Given the description of an element on the screen output the (x, y) to click on. 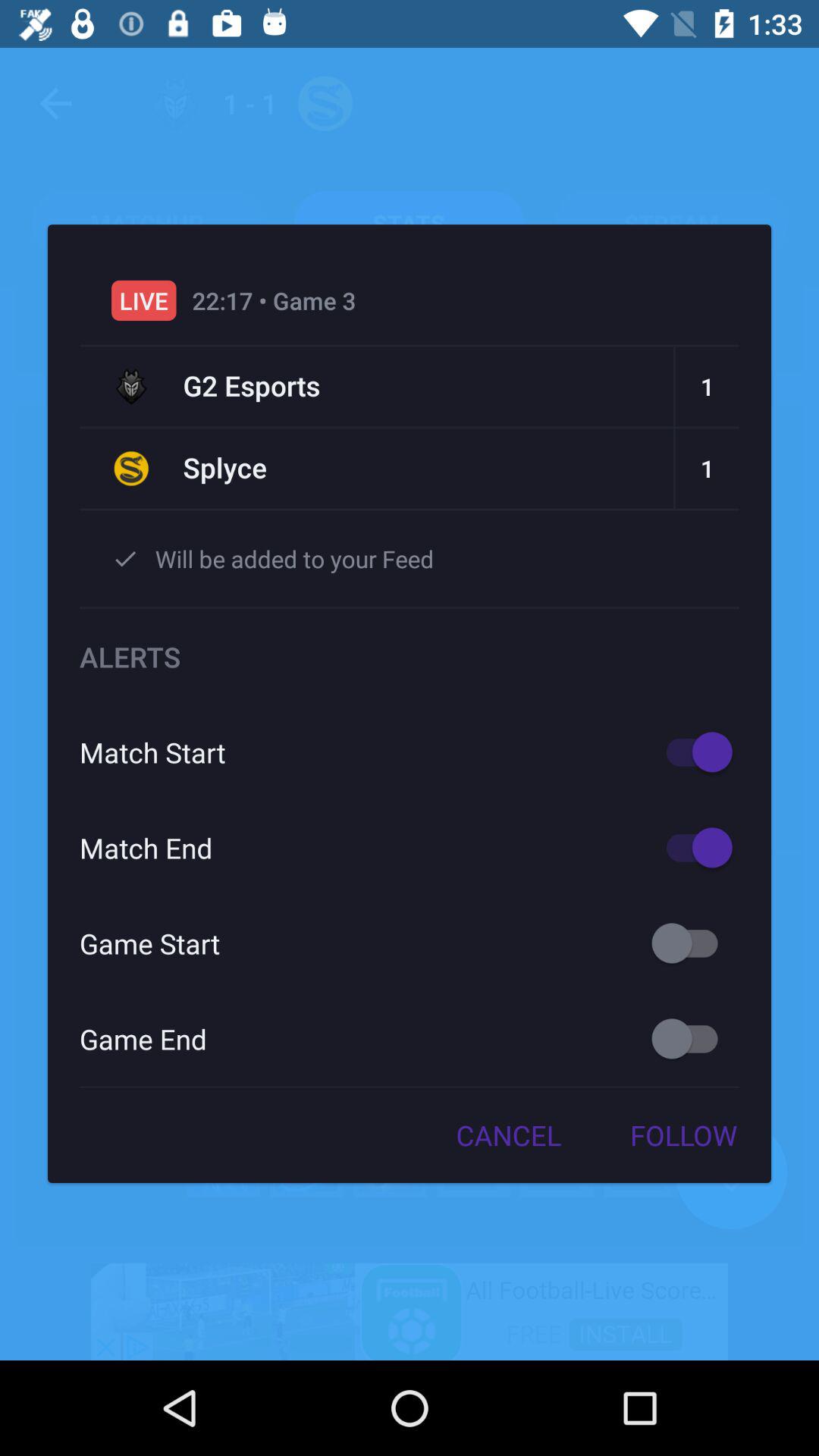
match end open (691, 847)
